Given the description of an element on the screen output the (x, y) to click on. 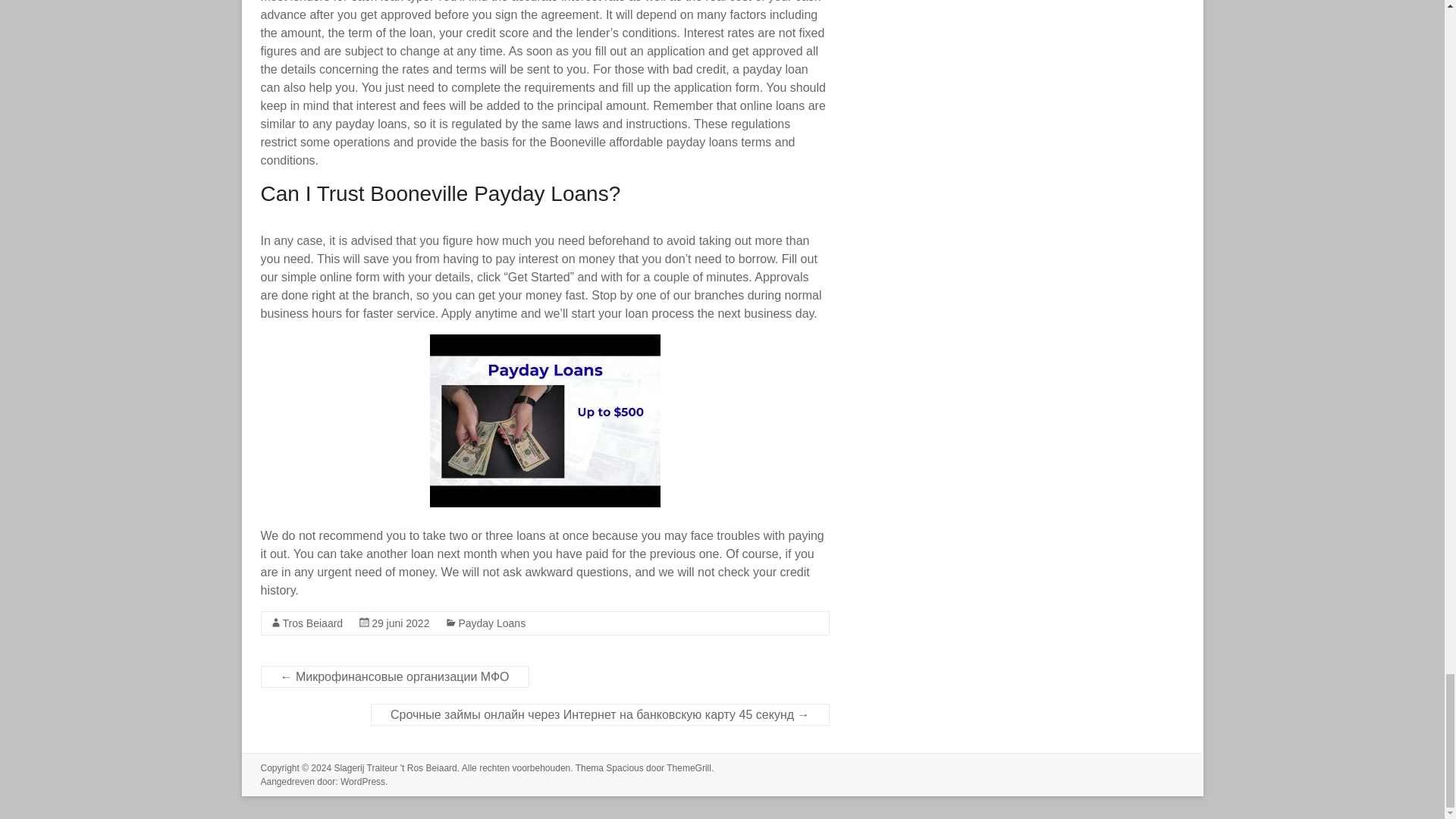
13:15 (400, 623)
Spacious (624, 767)
Payday Loans (491, 623)
Spacious (624, 767)
Slagerij Traiteur 't Ros Beiaard (395, 767)
29 juni 2022 (400, 623)
Tros Beiaard (312, 623)
WordPress (362, 781)
Slagerij Traiteur 't Ros Beiaard (395, 767)
WordPress (362, 781)
